Given the description of an element on the screen output the (x, y) to click on. 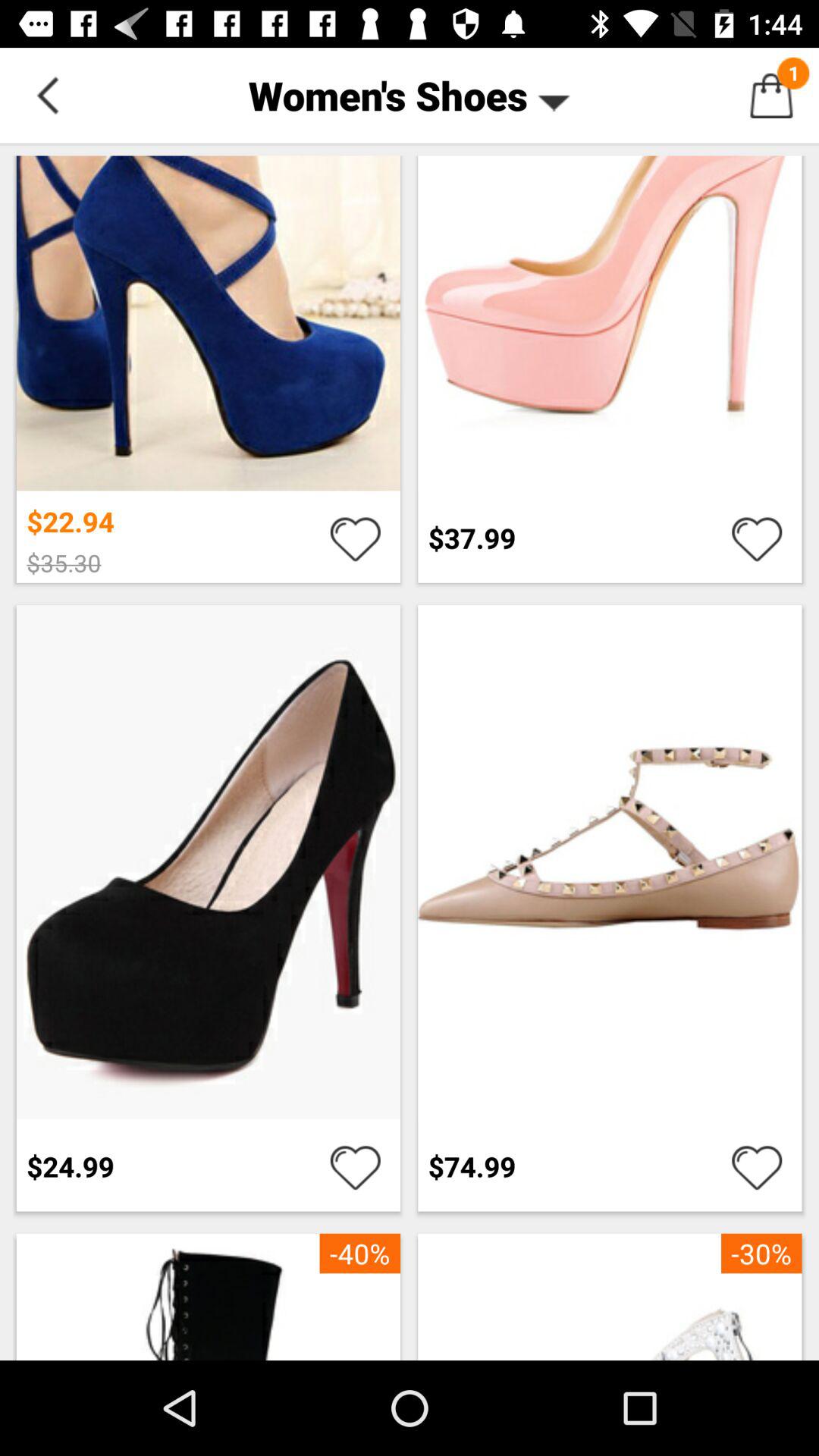
like the product (355, 1166)
